Given the description of an element on the screen output the (x, y) to click on. 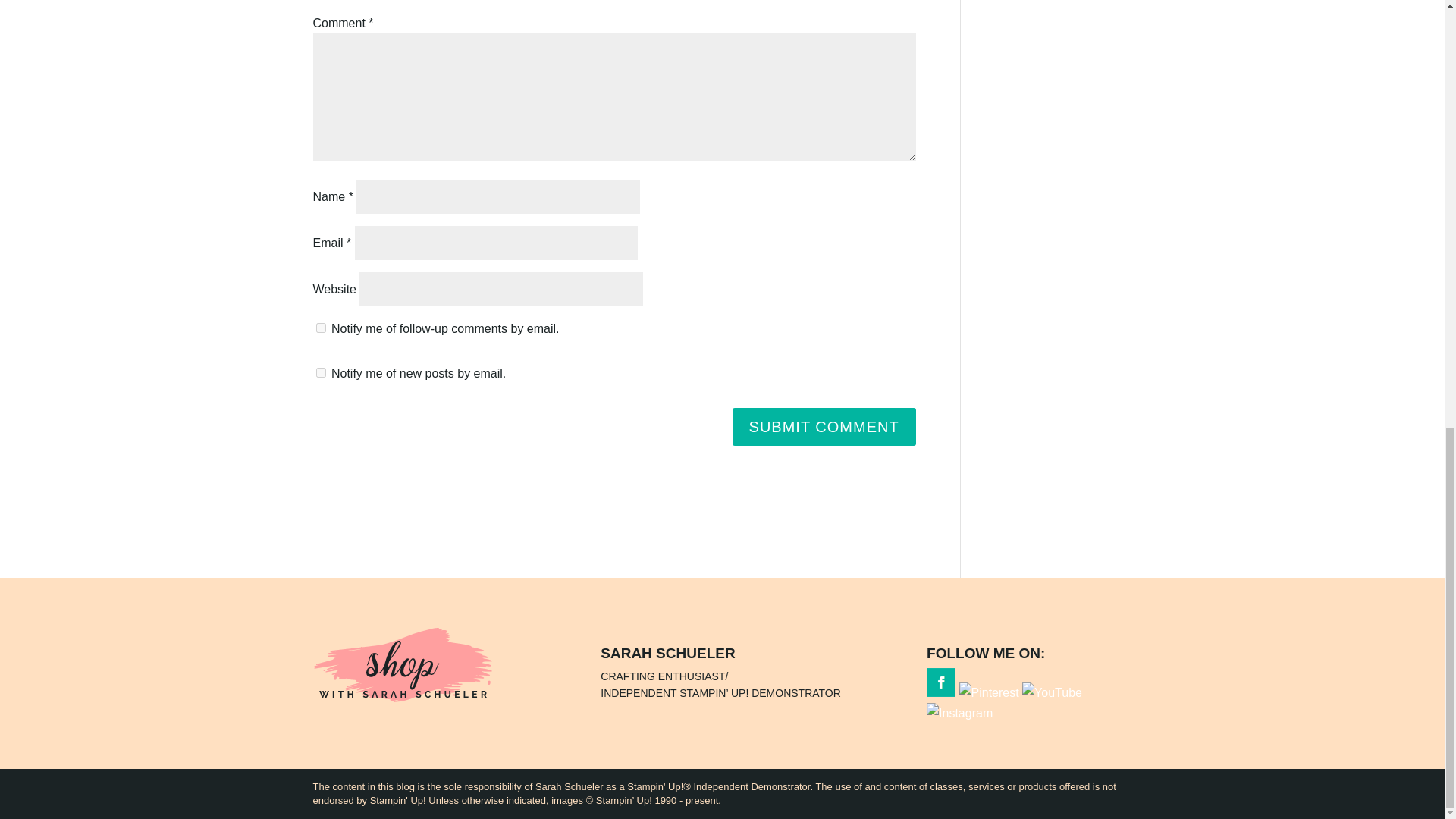
subscribe (319, 372)
Submit Comment (823, 426)
subscribe (319, 327)
Submit Comment (823, 426)
